Given the description of an element on the screen output the (x, y) to click on. 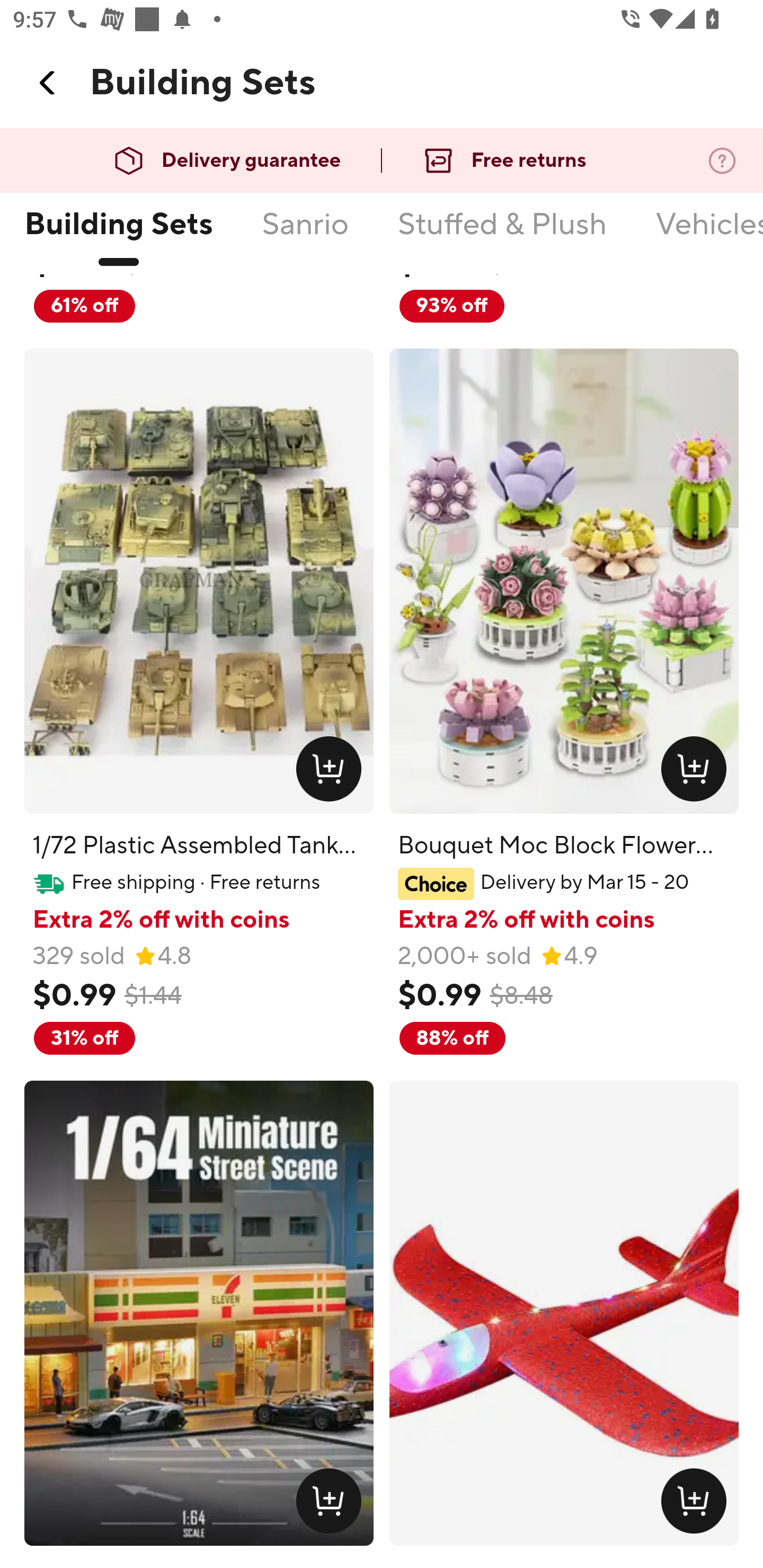
 (48, 82)
Building Sets (117, 235)
Sanrio (304, 235)
Stuffed & Plush (502, 235)
Vehicles (708, 235)
128x128.png_ (331, 772)
128x128.png_ (697, 772)
128x128.png_ (331, 1504)
128x128.png_ (697, 1504)
